Given the description of an element on the screen output the (x, y) to click on. 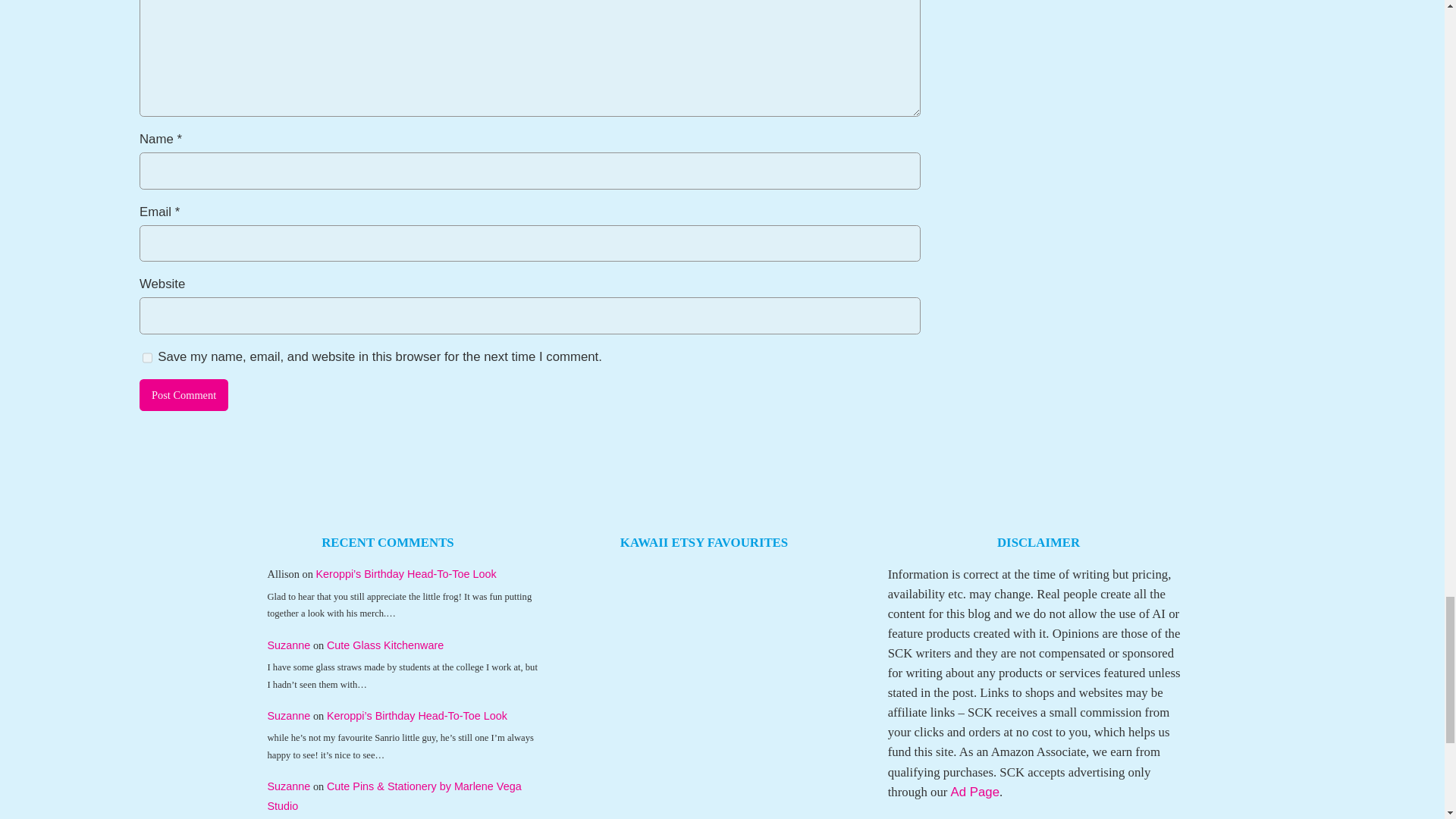
Post Comment (183, 395)
